Given the description of an element on the screen output the (x, y) to click on. 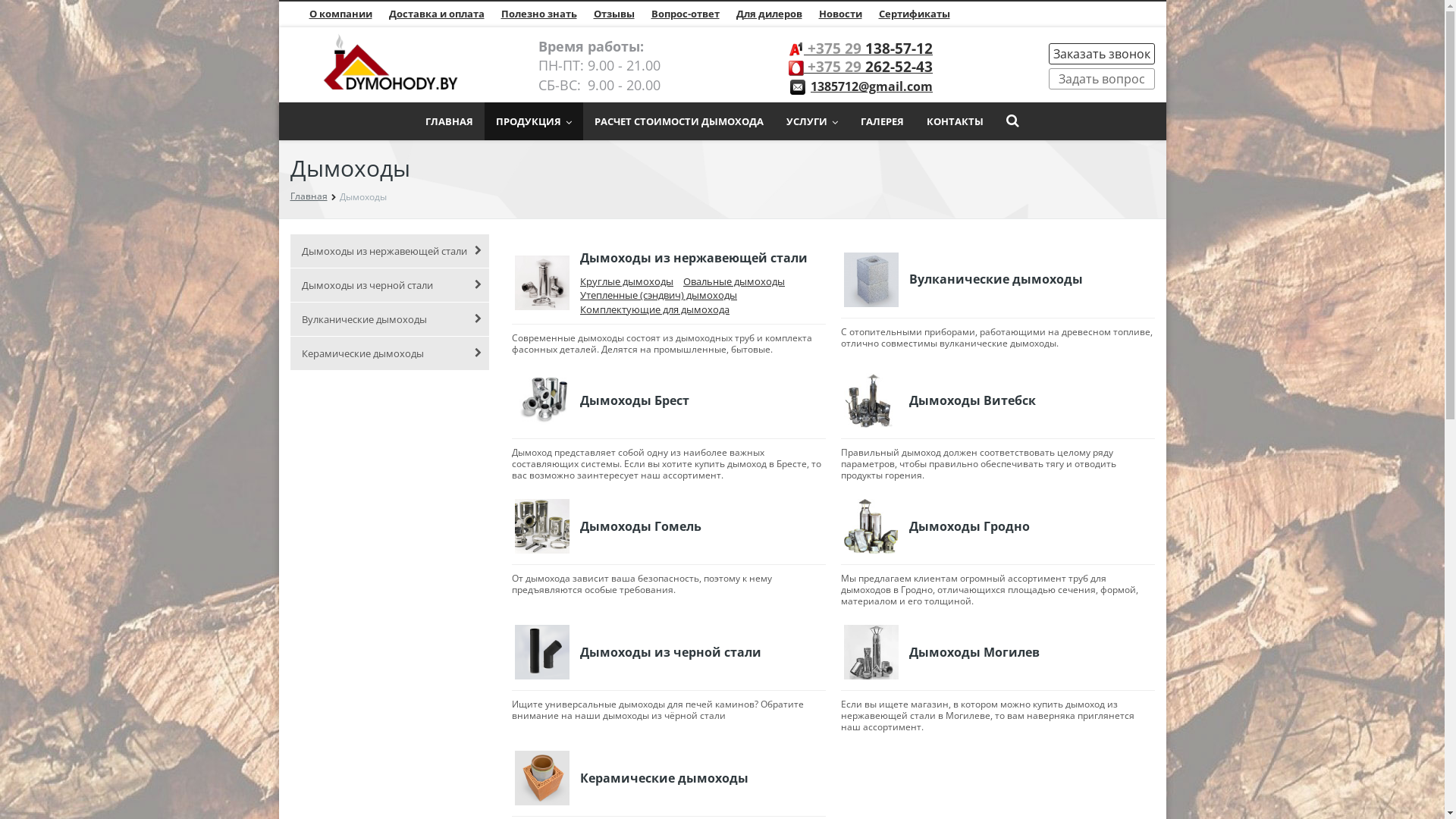
+375 29 138-57-12 Element type: text (867, 48)
+375 29 262-52-43 Element type: text (867, 66)
1385712@gmail.com Element type: text (871, 86)
logo Element type: hover (389, 62)
